Given the description of an element on the screen output the (x, y) to click on. 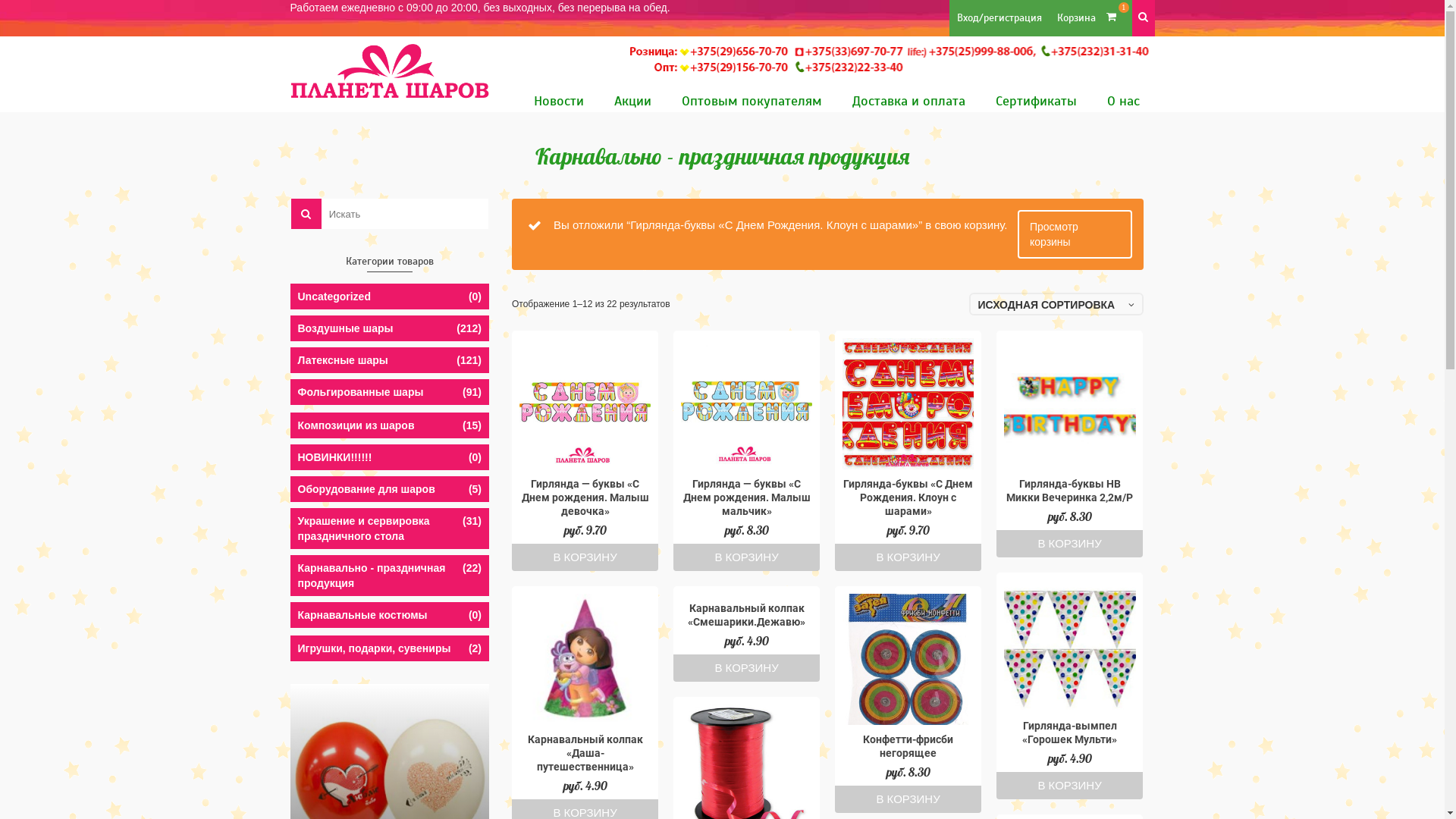
Uncategorized Element type: text (389, 296)
1 Element type: text (1116, 18)
